Given the description of an element on the screen output the (x, y) to click on. 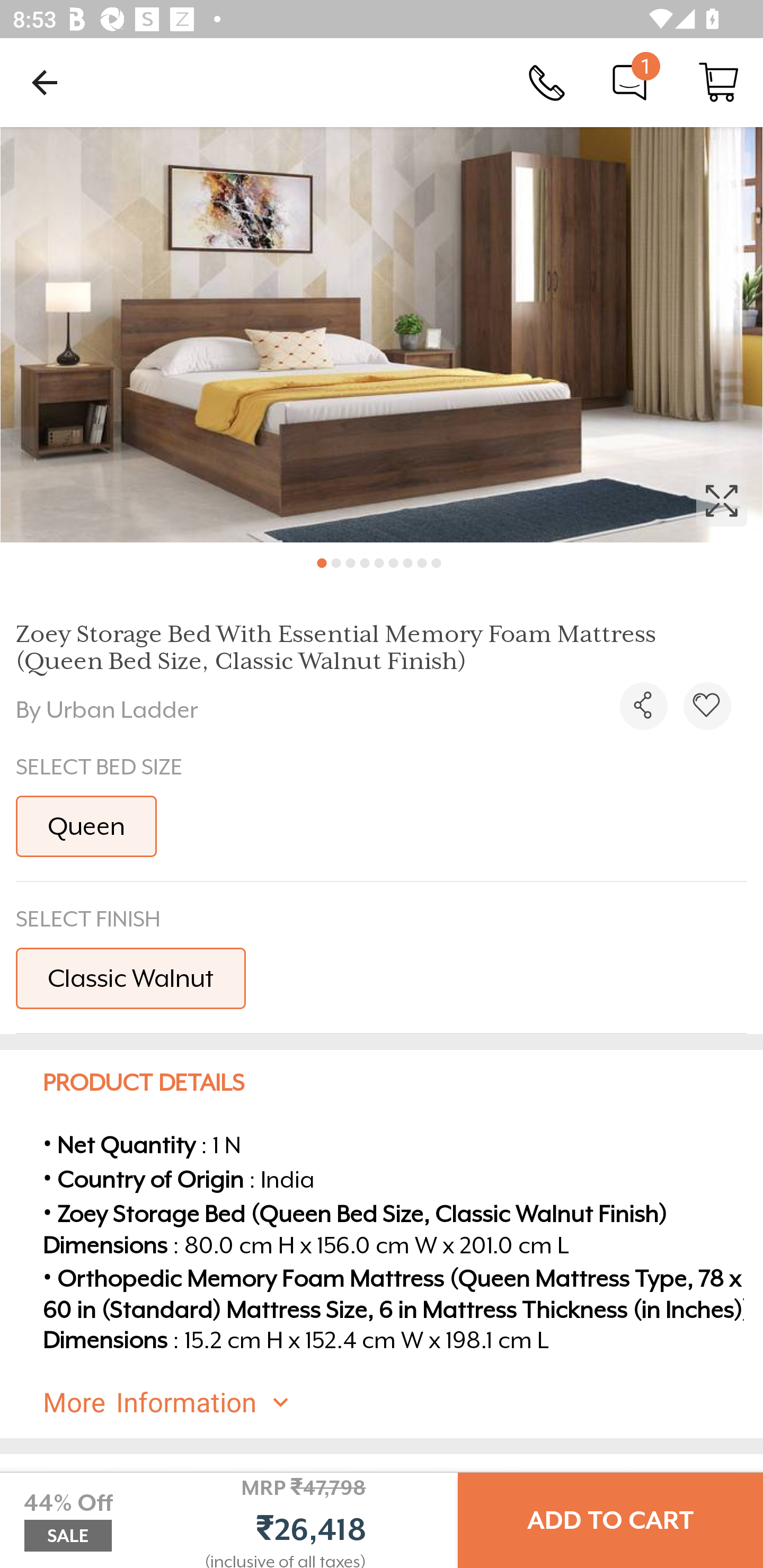
Navigate up (44, 82)
Call Us (546, 81)
Chat (629, 81)
Cart (718, 81)
 (381, 334)
 (643, 706)
 (706, 706)
Queen (86, 825)
Classic Walnut (130, 978)
More Information  (396, 1402)
ADD TO CART (610, 1520)
